Given the description of an element on the screen output the (x, y) to click on. 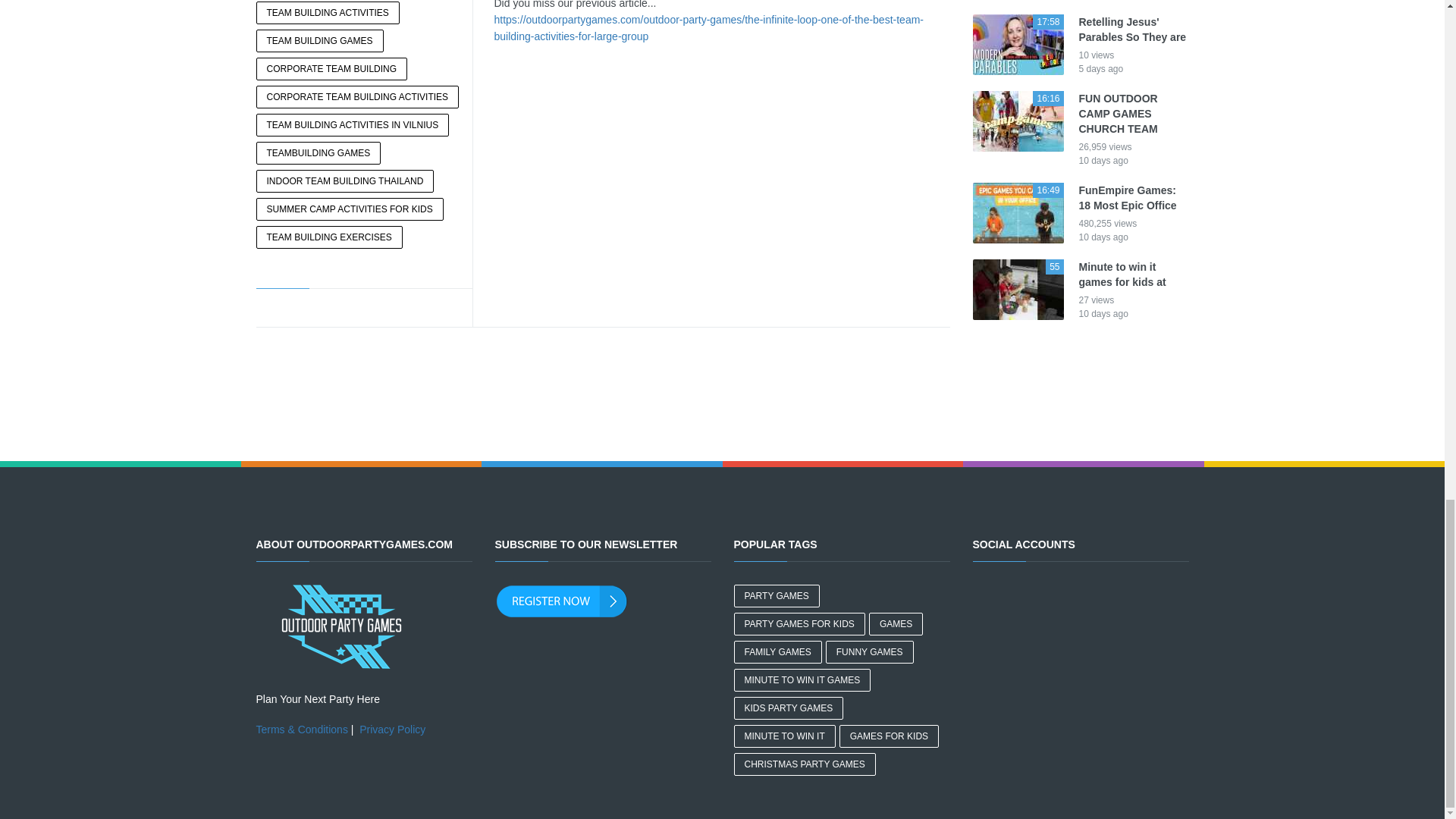
TEAM BUILDING ACTIVITIES (327, 12)
CORPORATE TEAM BUILDING (331, 68)
TEAM BUILDING GAMES (320, 40)
TEAM BUILDING ACTIVITIES IN VILNIUS (352, 124)
CORPORATE TEAM BUILDING ACTIVITIES (358, 96)
